Given the description of an element on the screen output the (x, y) to click on. 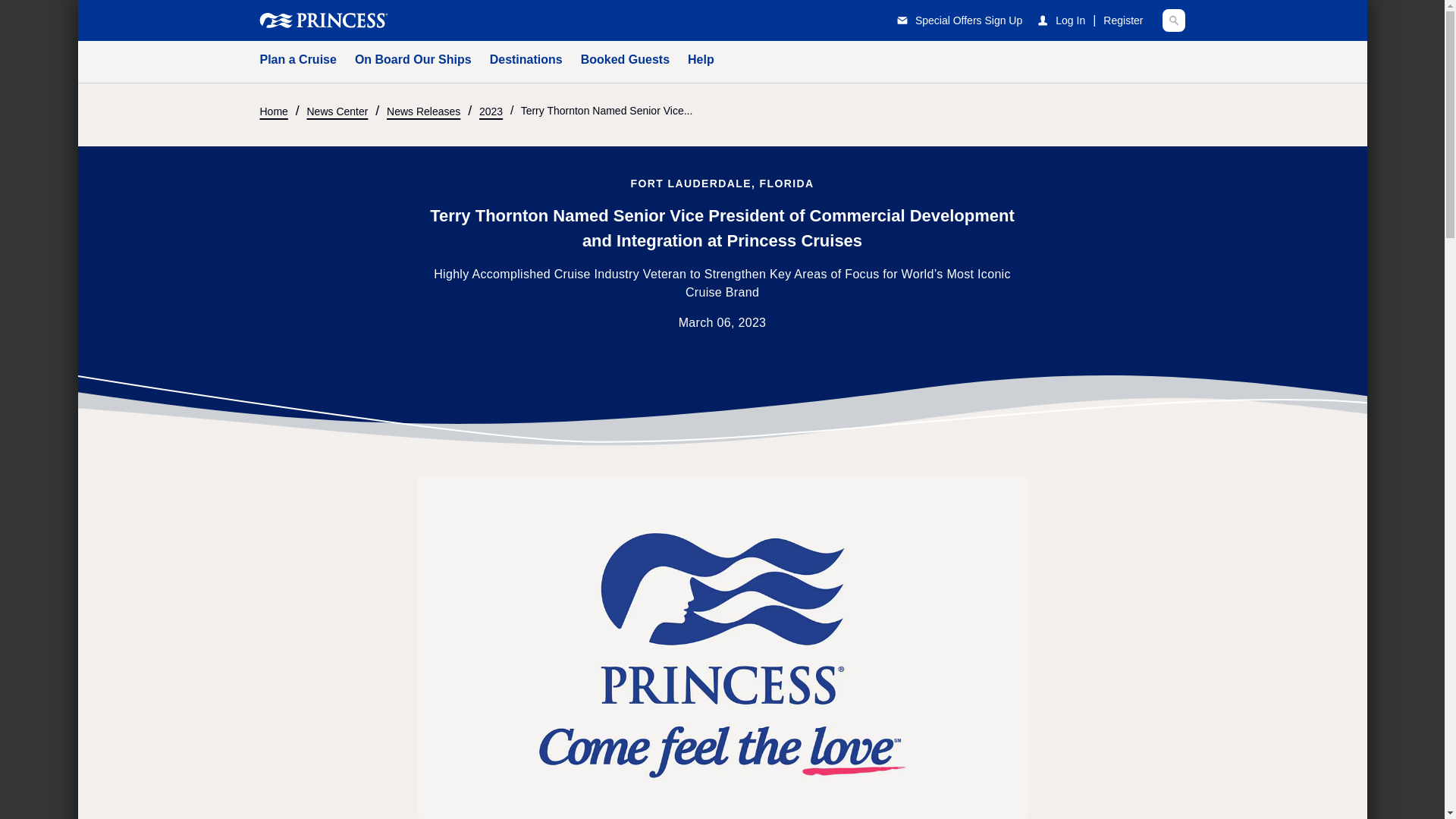
Home (272, 109)
Register (1122, 20)
Log In (1069, 20)
2023 (490, 109)
Plan a Cruise (297, 61)
News Releases (423, 109)
News Center (336, 109)
Special Offers Sign Up (952, 20)
